Given the description of an element on the screen output the (x, y) to click on. 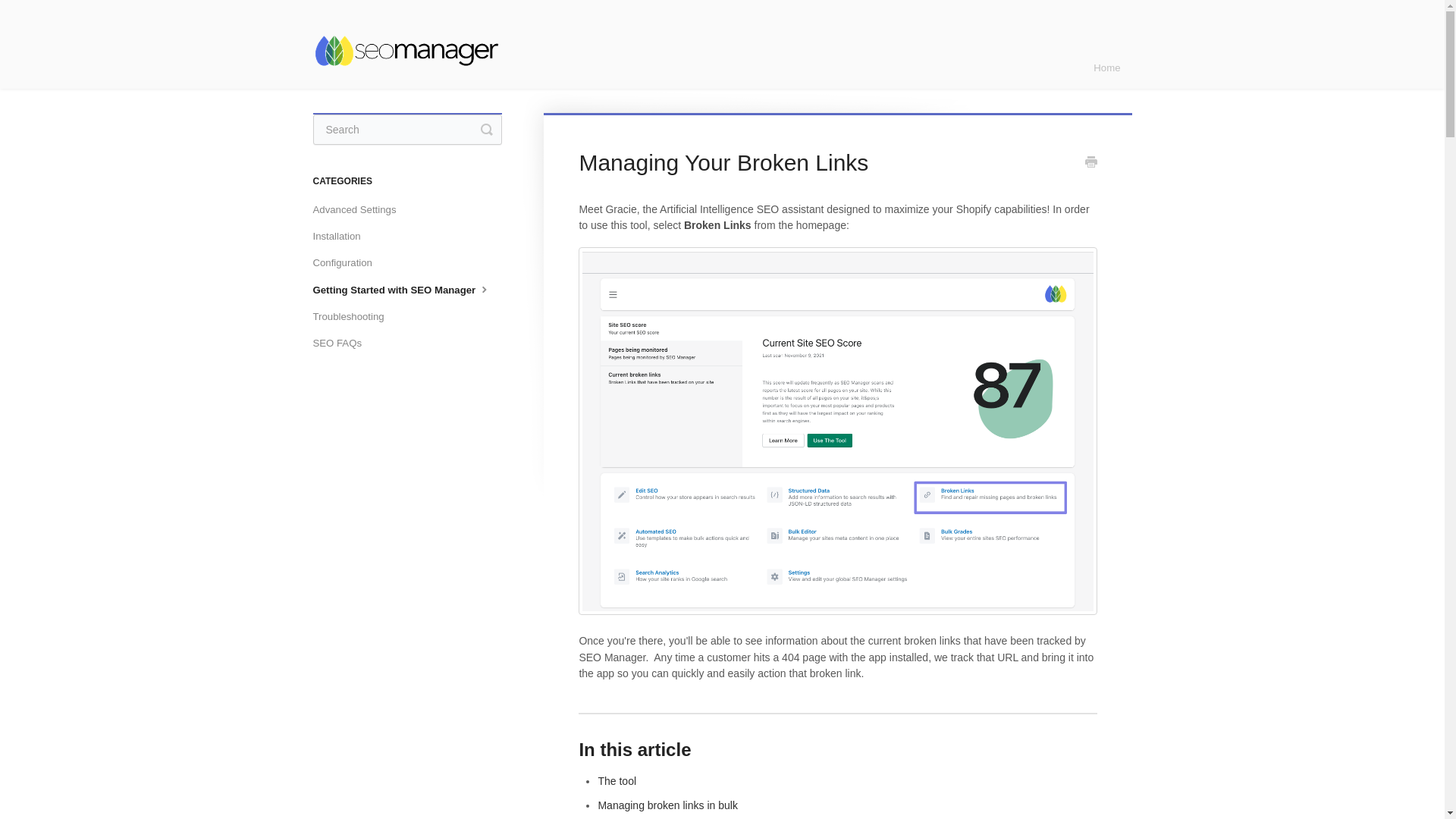
Configuration (347, 262)
Home (1106, 67)
Managing broken links in bulk (666, 805)
Advanced Settings (360, 209)
SEO FAQs (342, 343)
Troubleshooting (353, 316)
search-query (406, 129)
Installation (342, 236)
Getting Started with SEO Manager (407, 289)
The tool (616, 780)
